Given the description of an element on the screen output the (x, y) to click on. 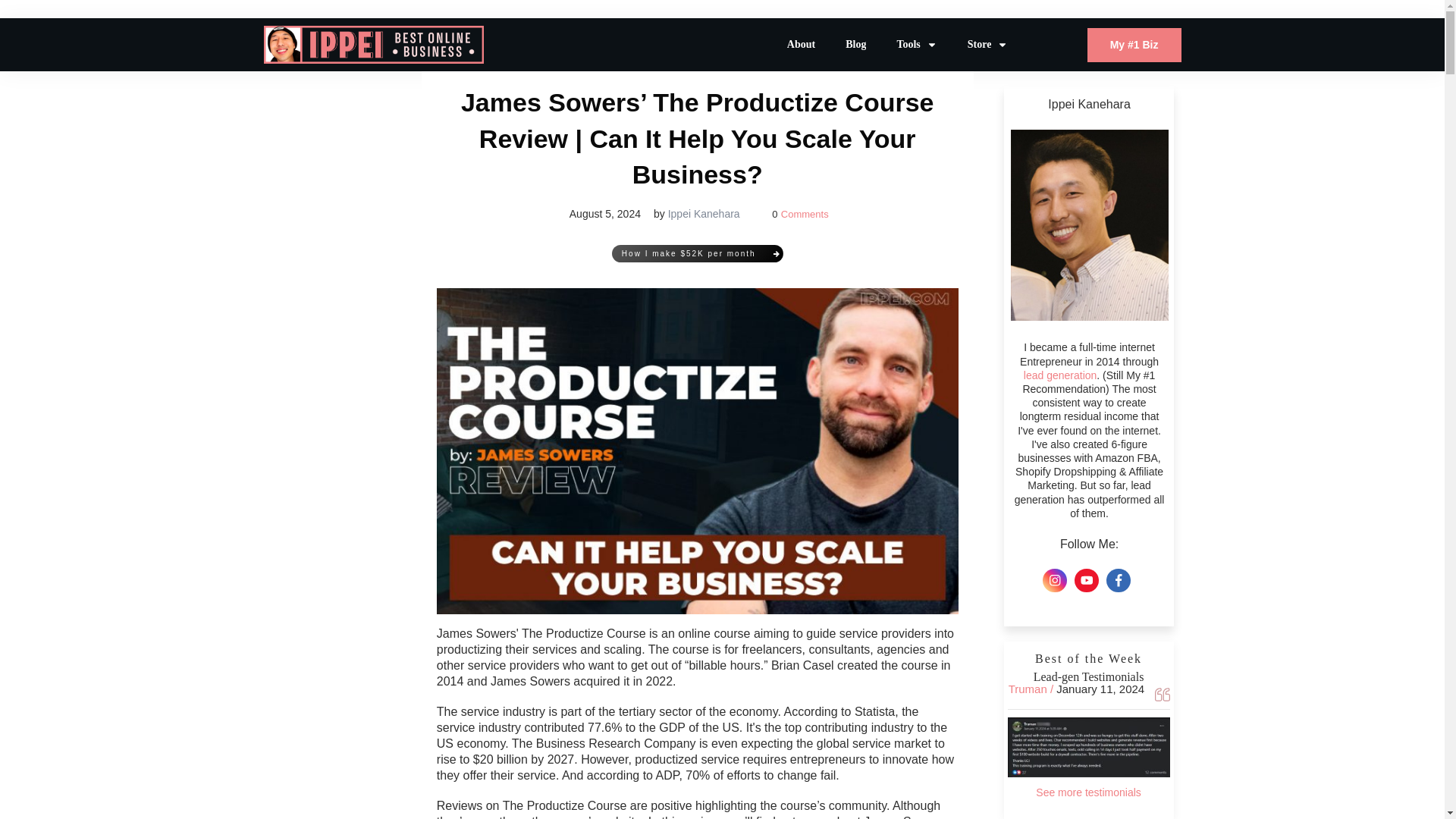
lead generation (1060, 375)
Ippei Kanehara (703, 214)
Blog (855, 44)
About (801, 44)
See more testimonials (1088, 792)
Comments (804, 214)
Ippei Kanehara (703, 214)
Store (988, 44)
Tools (916, 44)
